Given the description of an element on the screen output the (x, y) to click on. 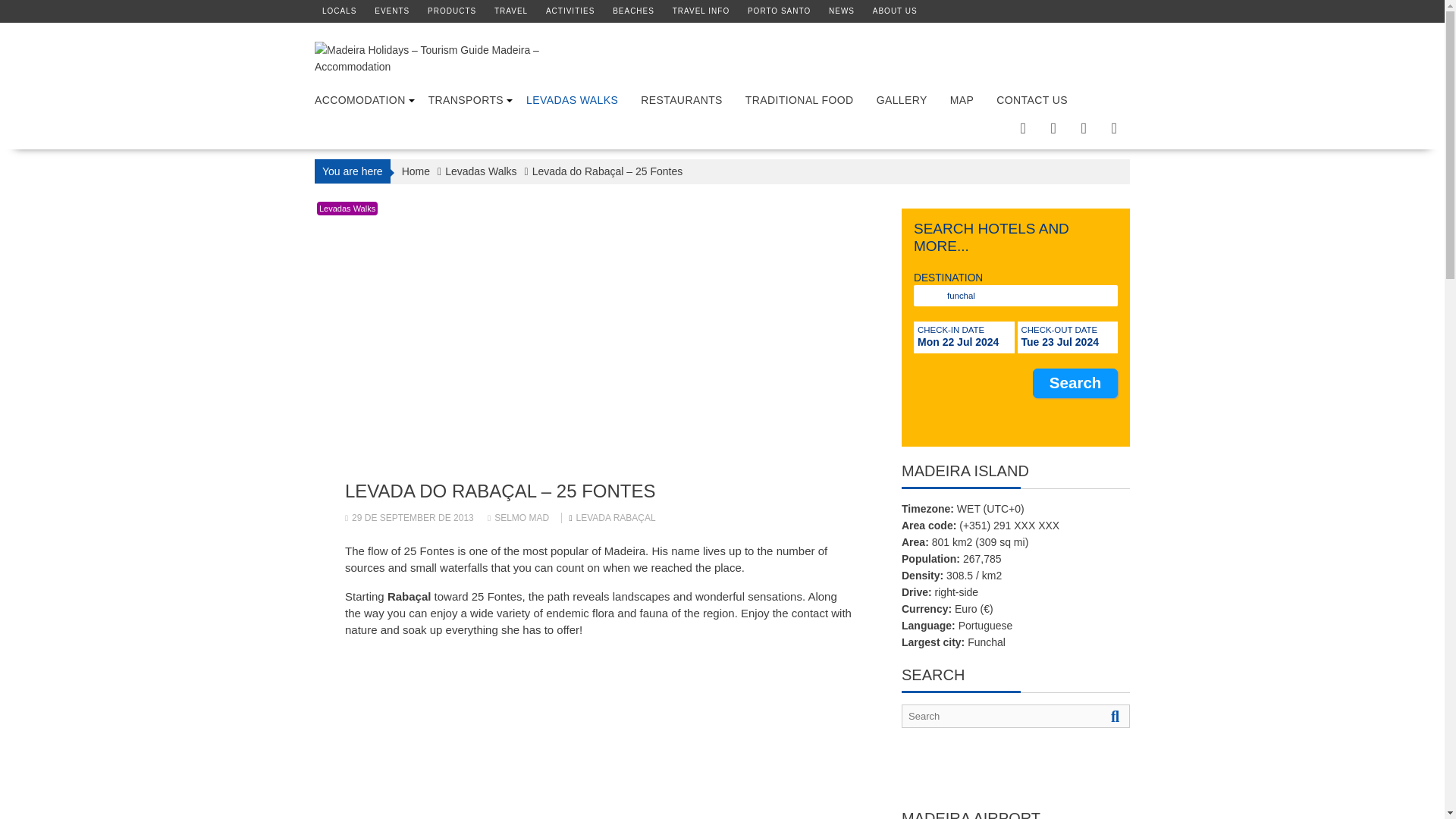
Madeira Travel (511, 10)
TRADITIONAL FOOD (798, 99)
Madeira Events (391, 10)
NEWS (841, 10)
Search (1075, 382)
TRAVEL (511, 10)
CONTACT US (1031, 99)
Levadas Walks (480, 170)
PORTO SANTO (779, 10)
Madeira Locals (338, 10)
Madeira Restaurants (680, 99)
ABOUT US (894, 10)
TRAVEL INFO (700, 10)
Home (415, 170)
Levadas Walks (347, 208)
